Given the description of an element on the screen output the (x, y) to click on. 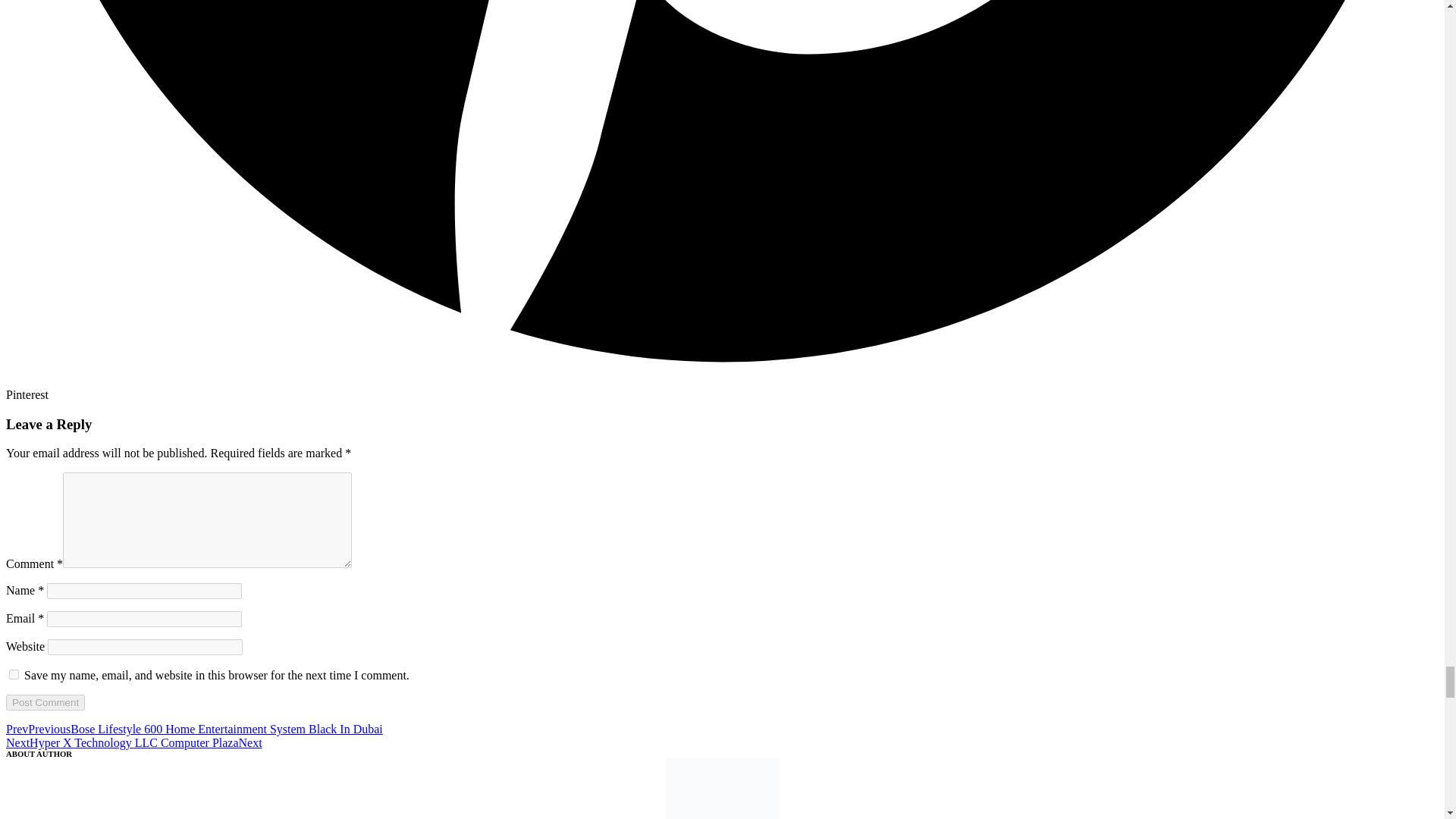
NextHyper X Technology LLC Computer PlazaNext (133, 742)
yes (13, 674)
Post Comment (44, 702)
Post Comment (44, 702)
